Given the description of an element on the screen output the (x, y) to click on. 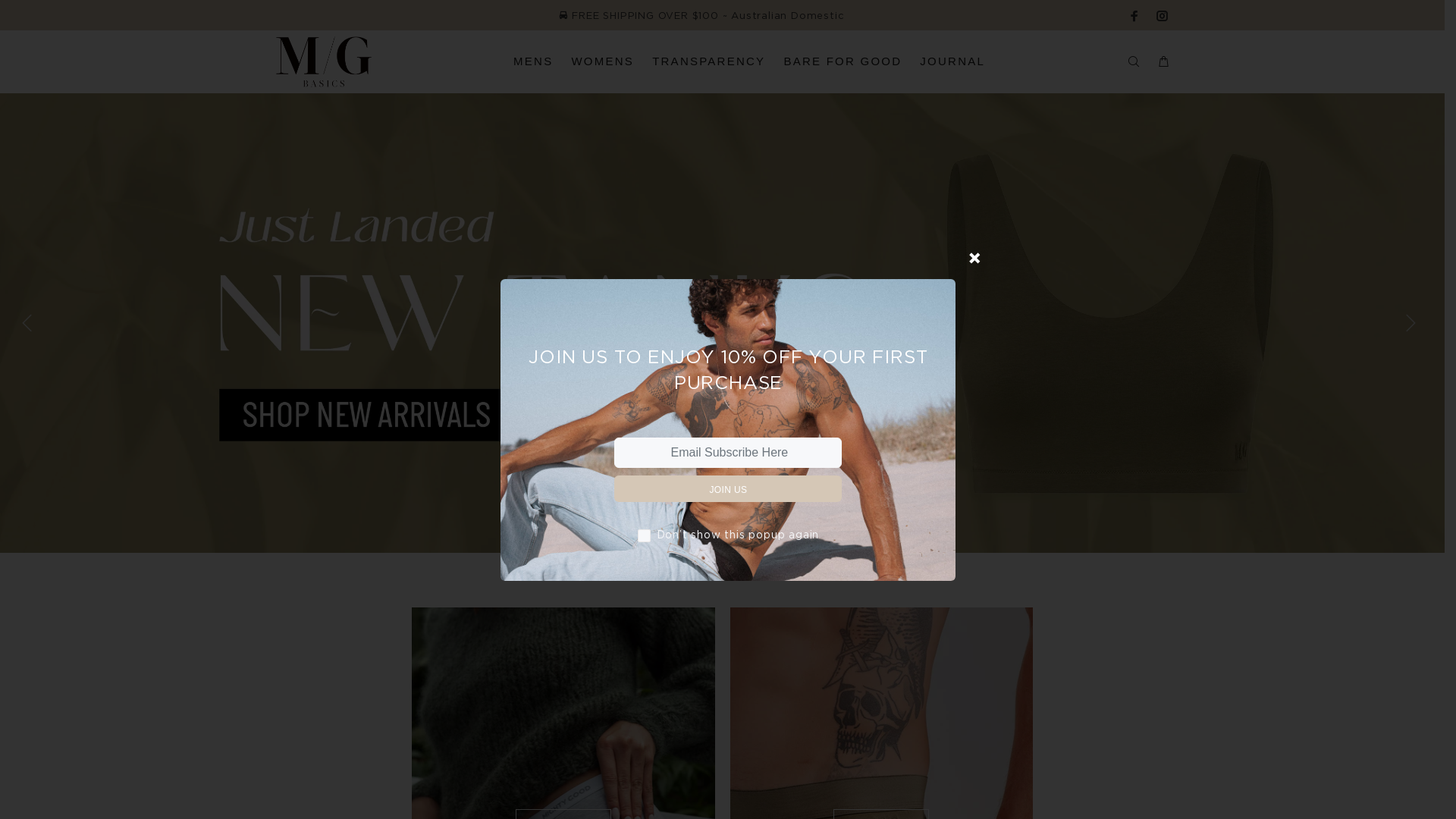
BARE FOR GOOD Element type: text (842, 61)
JOIN US Element type: text (727, 488)
MENS Element type: text (532, 61)
WOMENS Element type: text (602, 61)
JOURNAL Element type: text (947, 61)
TRANSPARENCY Element type: text (708, 61)
